Given the description of an element on the screen output the (x, y) to click on. 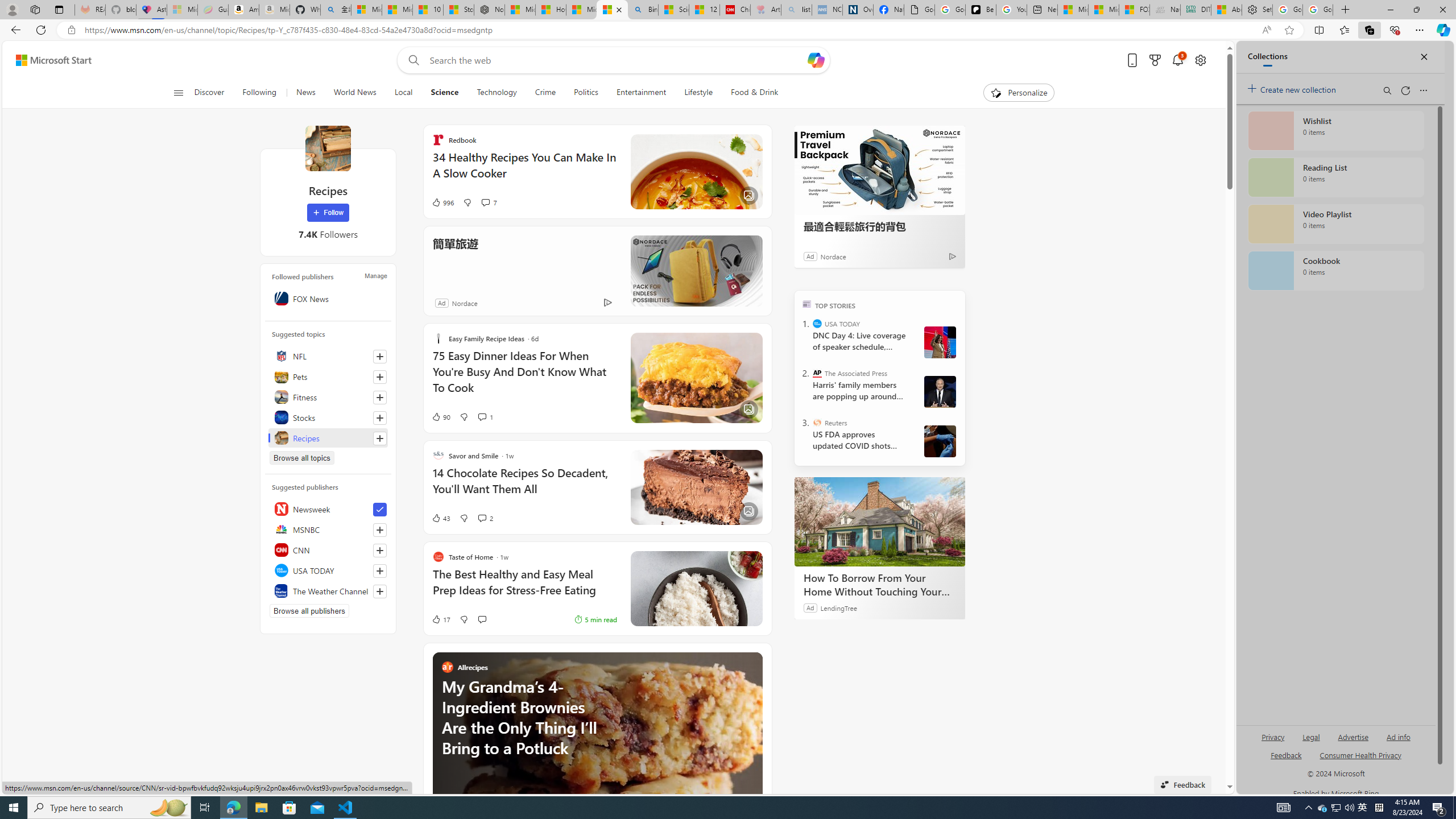
Bing (642, 9)
Unfollow this source (379, 509)
Perfect Sushi Rice Exps Ft20 256965 F 0730 1 3 (696, 588)
Browse all topics (301, 457)
MSNBC (327, 529)
